Given the description of an element on the screen output the (x, y) to click on. 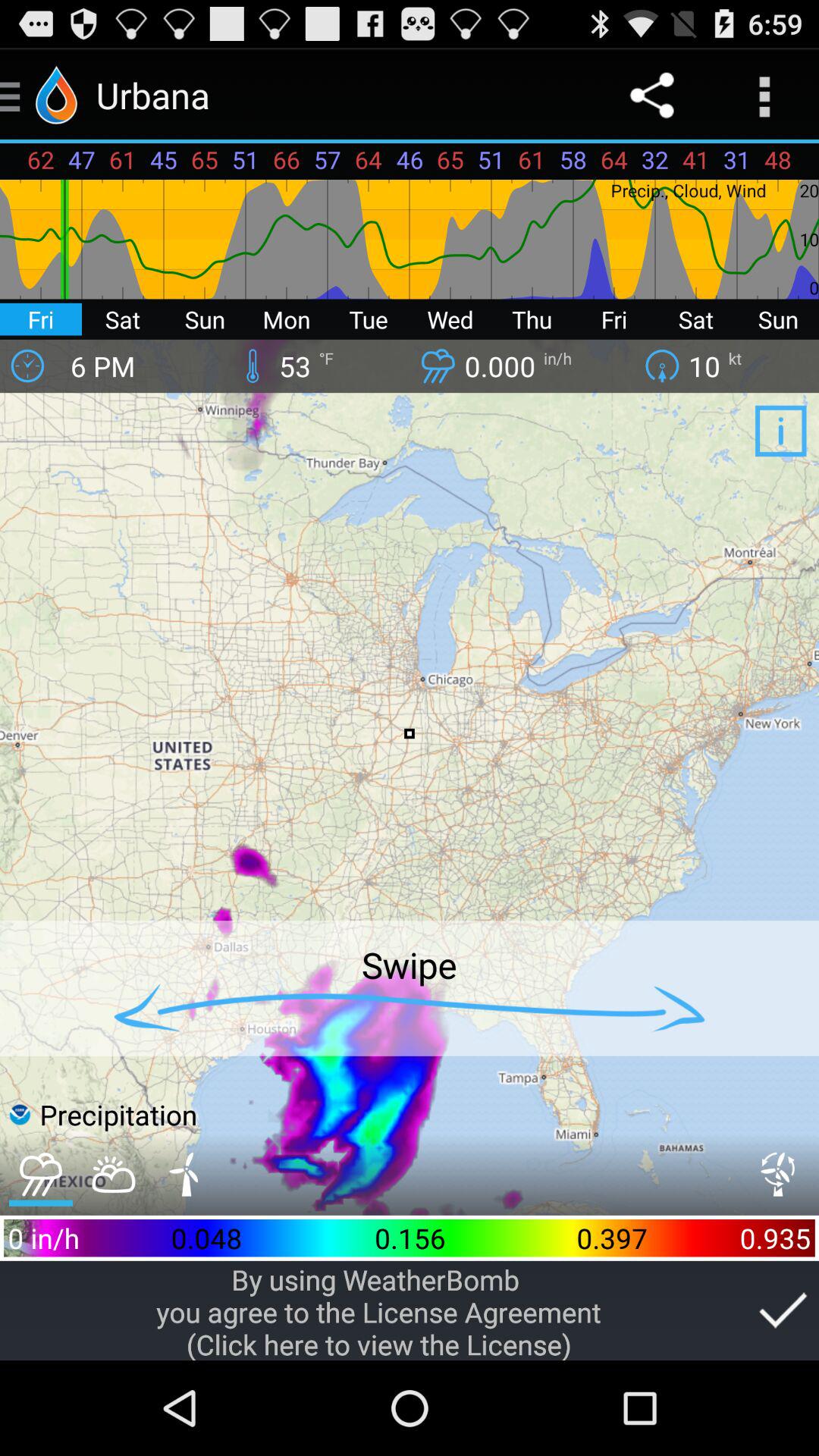
tap the icon to the right of 61 (651, 95)
